Given the description of an element on the screen output the (x, y) to click on. 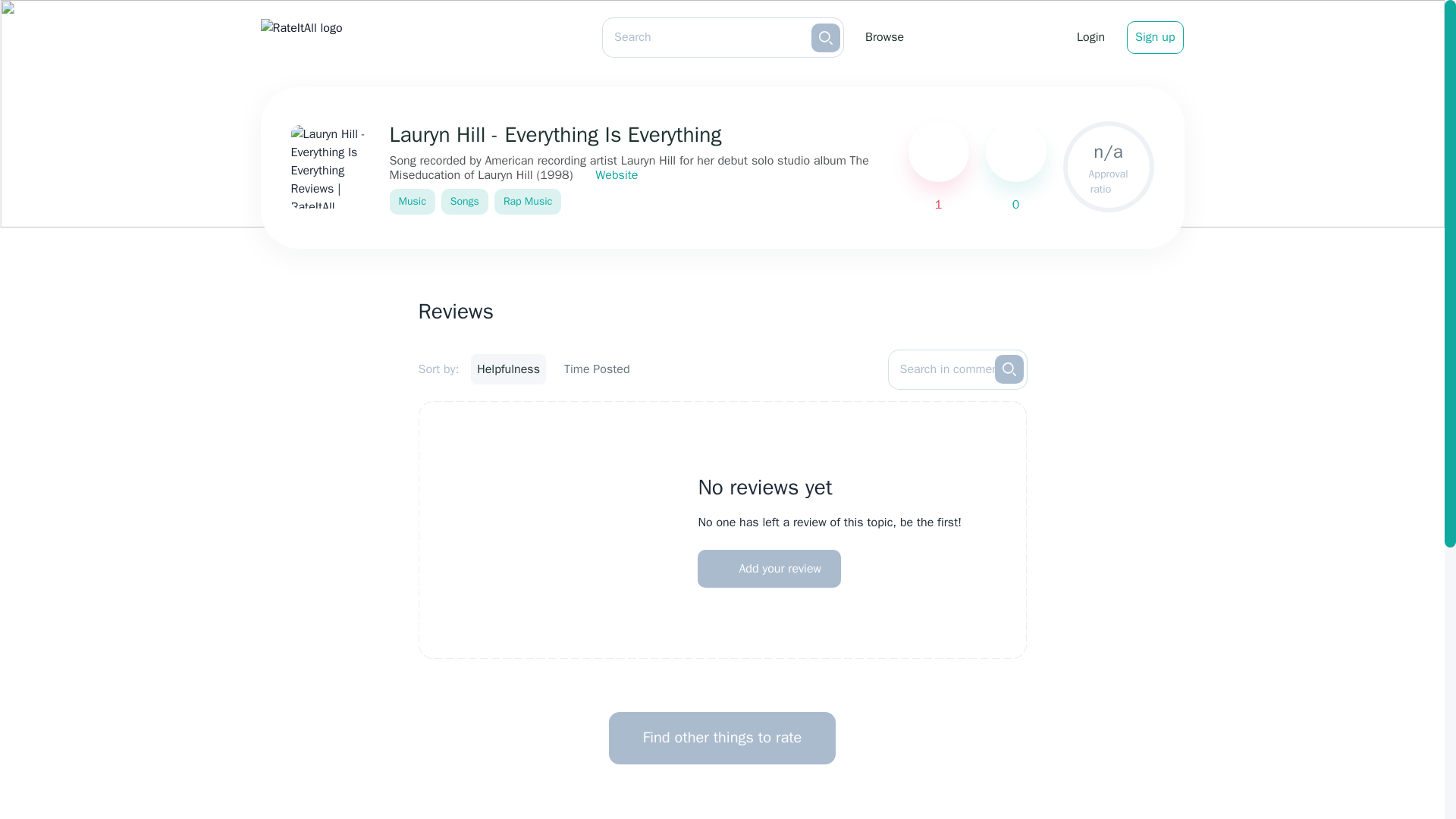
Rap Music (527, 201)
Time Posted (596, 368)
Browse (884, 37)
Website (606, 175)
Music (412, 201)
Sign up (1154, 37)
Helpfulness (508, 368)
Login (1090, 37)
Find other things to rate (721, 737)
Add your review (769, 568)
